Given the description of an element on the screen output the (x, y) to click on. 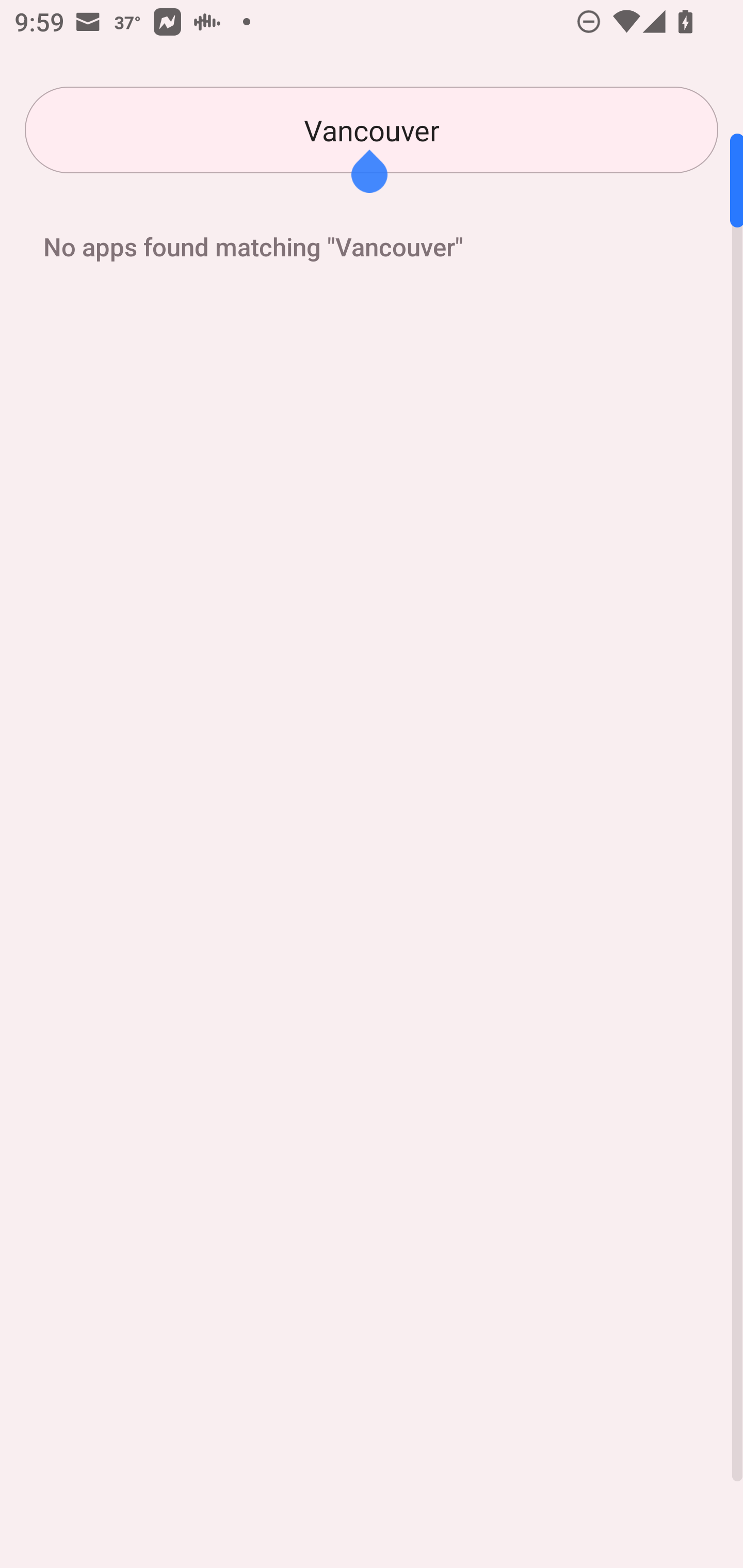
Vancouver (371, 130)
